Given the description of an element on the screen output the (x, y) to click on. 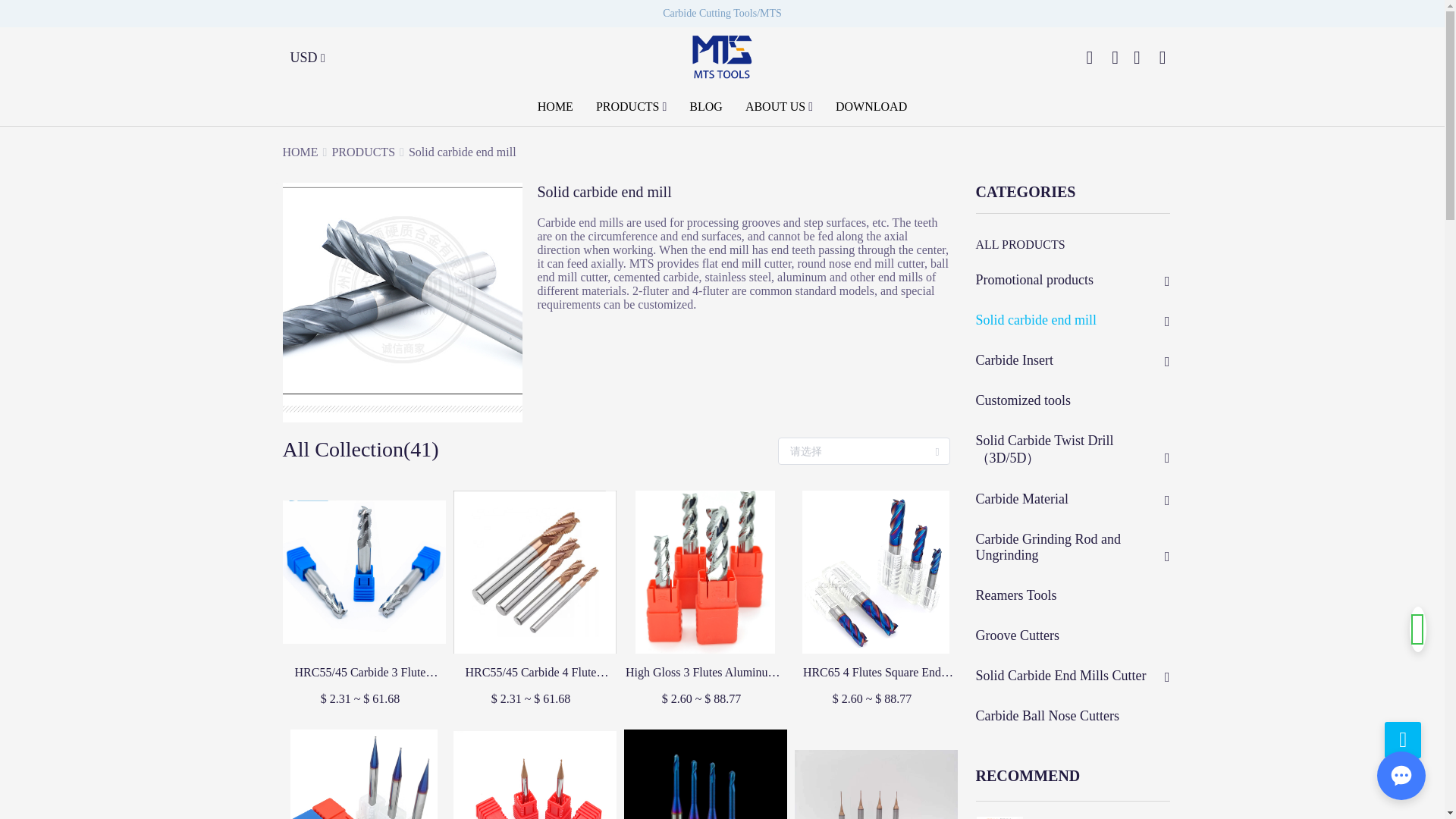
PRODUCTS (627, 106)
HOME (299, 151)
DOWNLOAD (871, 106)
BLOG (705, 106)
High Gloss 3 Flutes Aluminum Square End mill (701, 672)
ABOUT US (775, 106)
HOME (555, 106)
PRODUCTS (362, 151)
HRC65 4 Flutes Square End Mills (871, 672)
